Given the description of an element on the screen output the (x, y) to click on. 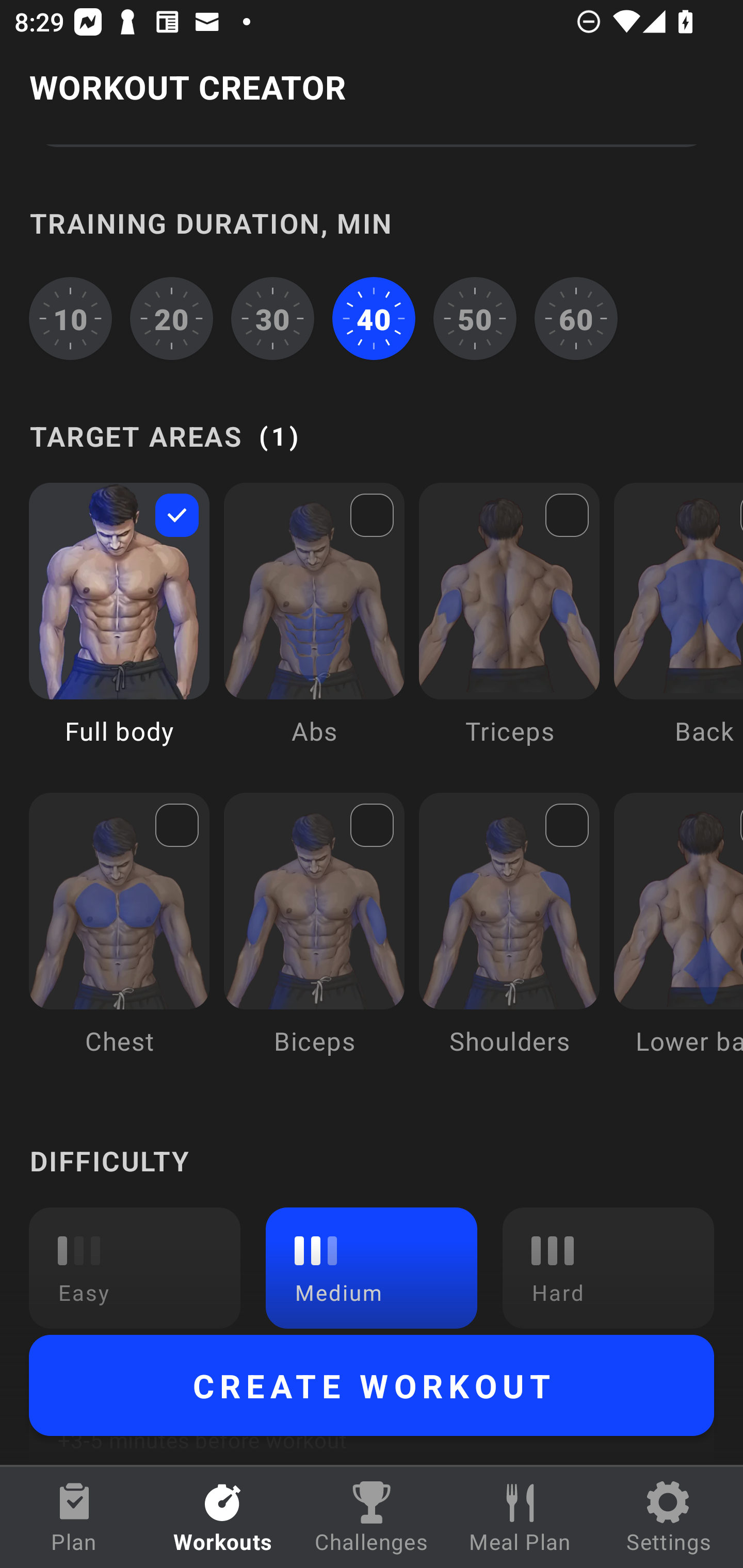
10 (70, 318)
20 (171, 318)
30 (272, 318)
40 (373, 318)
50 (474, 318)
60 (575, 318)
Abs (313, 628)
Triceps (509, 628)
Back (678, 628)
Chest (118, 939)
Biceps (313, 939)
Shoulders (509, 939)
Lower back (678, 939)
Easy (134, 1267)
Hard (608, 1267)
CREATE WORKOUT (371, 1385)
 Plan  (74, 1517)
 Challenges  (371, 1517)
 Meal Plan  (519, 1517)
 Settings  (668, 1517)
